Given the description of an element on the screen output the (x, y) to click on. 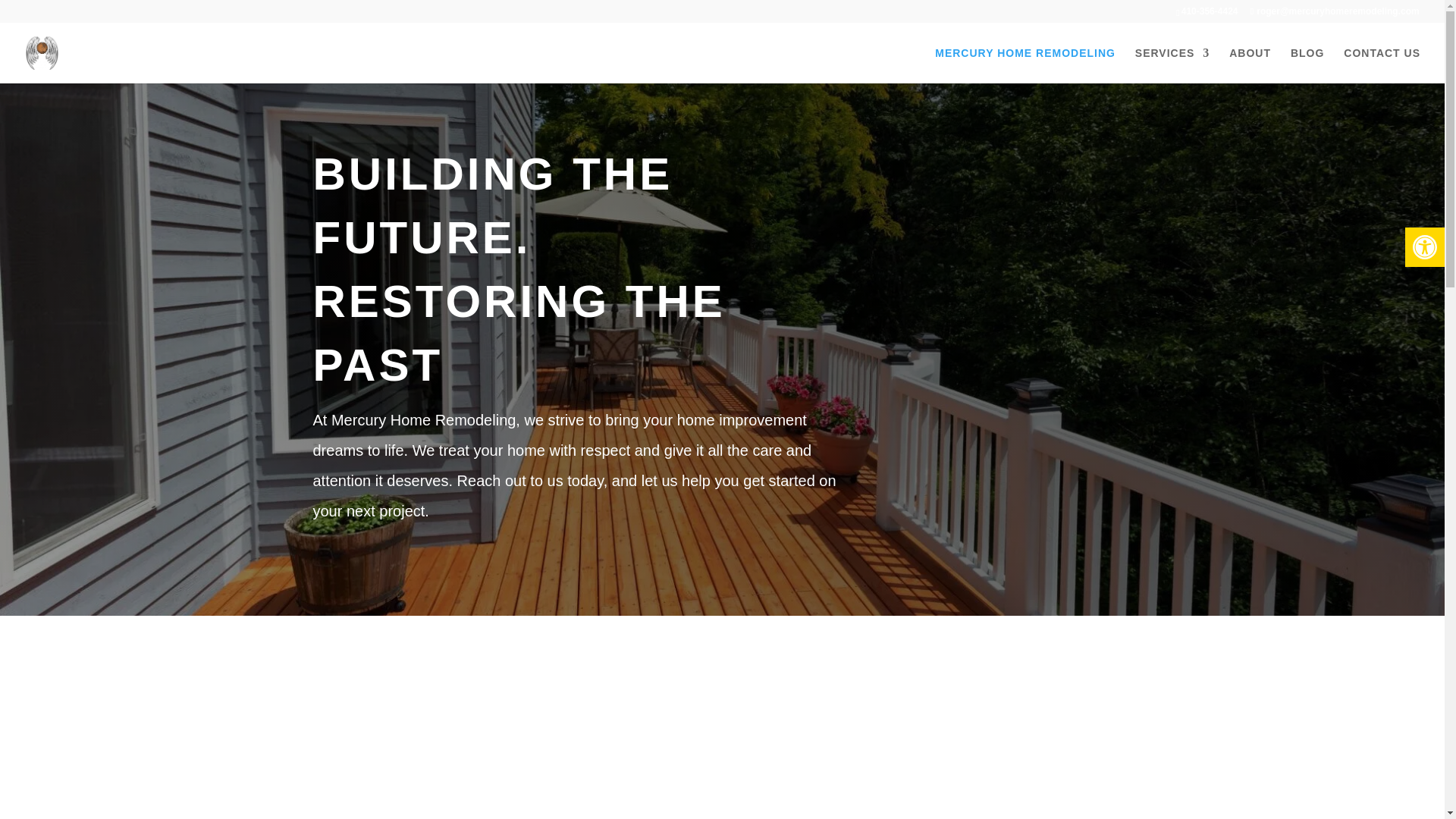
MERCURY HOME REMODELING (1024, 65)
SERVICES (1172, 65)
CONTACT US (1382, 65)
ABOUT (1249, 65)
Accessibility Tools (1424, 247)
BLOG (1306, 65)
